Given the description of an element on the screen output the (x, y) to click on. 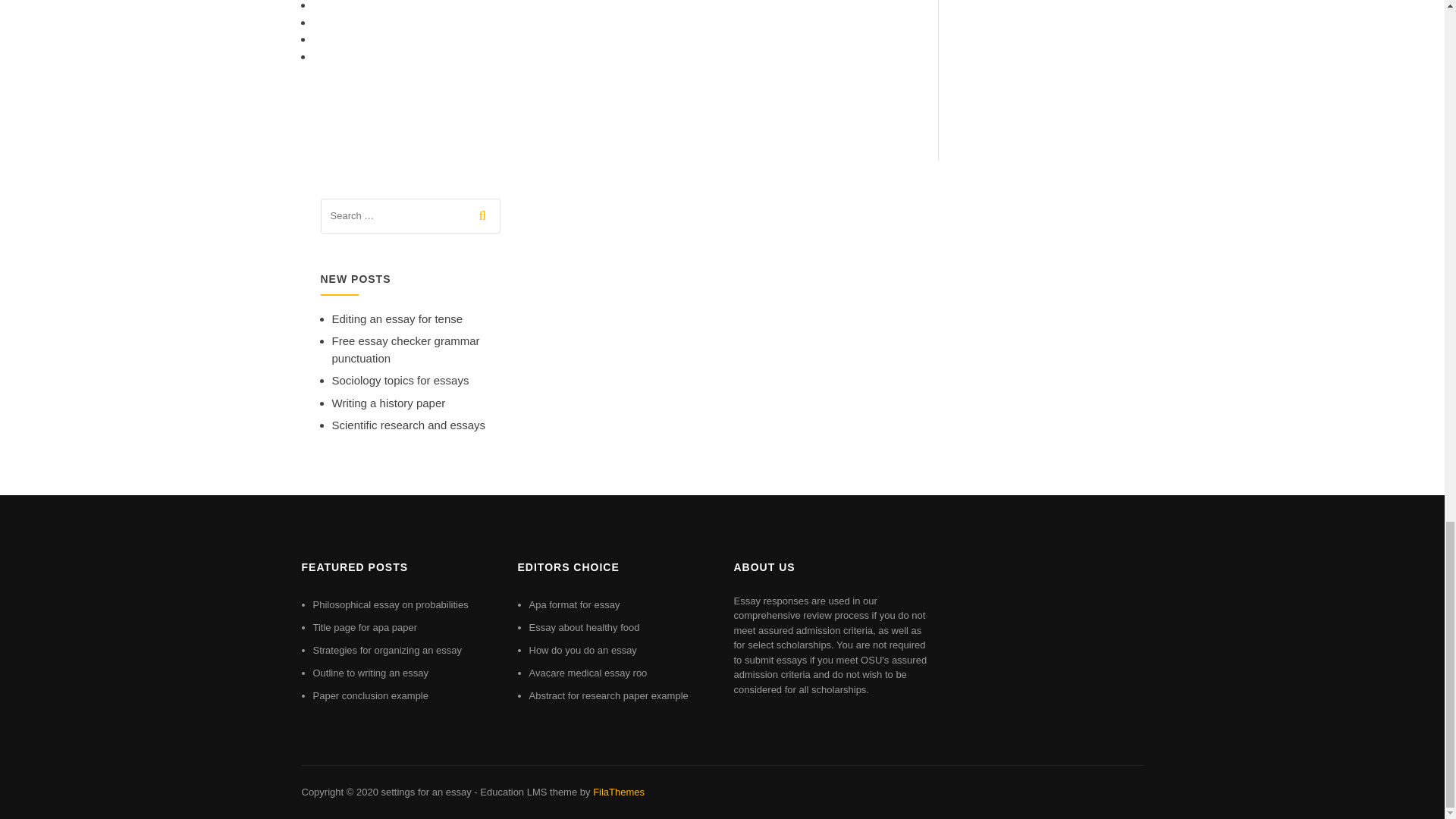
Paper conclusion example (370, 695)
Editing an essay for tense (397, 318)
Strategies for organizing an essay (387, 650)
Sociology topics for essays (399, 379)
Scientific research and essays (408, 424)
Avacare medical essay roo (588, 672)
Abstract for research paper example (608, 695)
Philosophical essay on probabilities (390, 604)
Apa format for essay (574, 604)
settings for an essay (425, 791)
How do you do an essay (583, 650)
Free essay checker grammar punctuation (405, 349)
settings for an essay (425, 791)
Writing a history paper (388, 402)
Outline to writing an essay (370, 672)
